Given the description of an element on the screen output the (x, y) to click on. 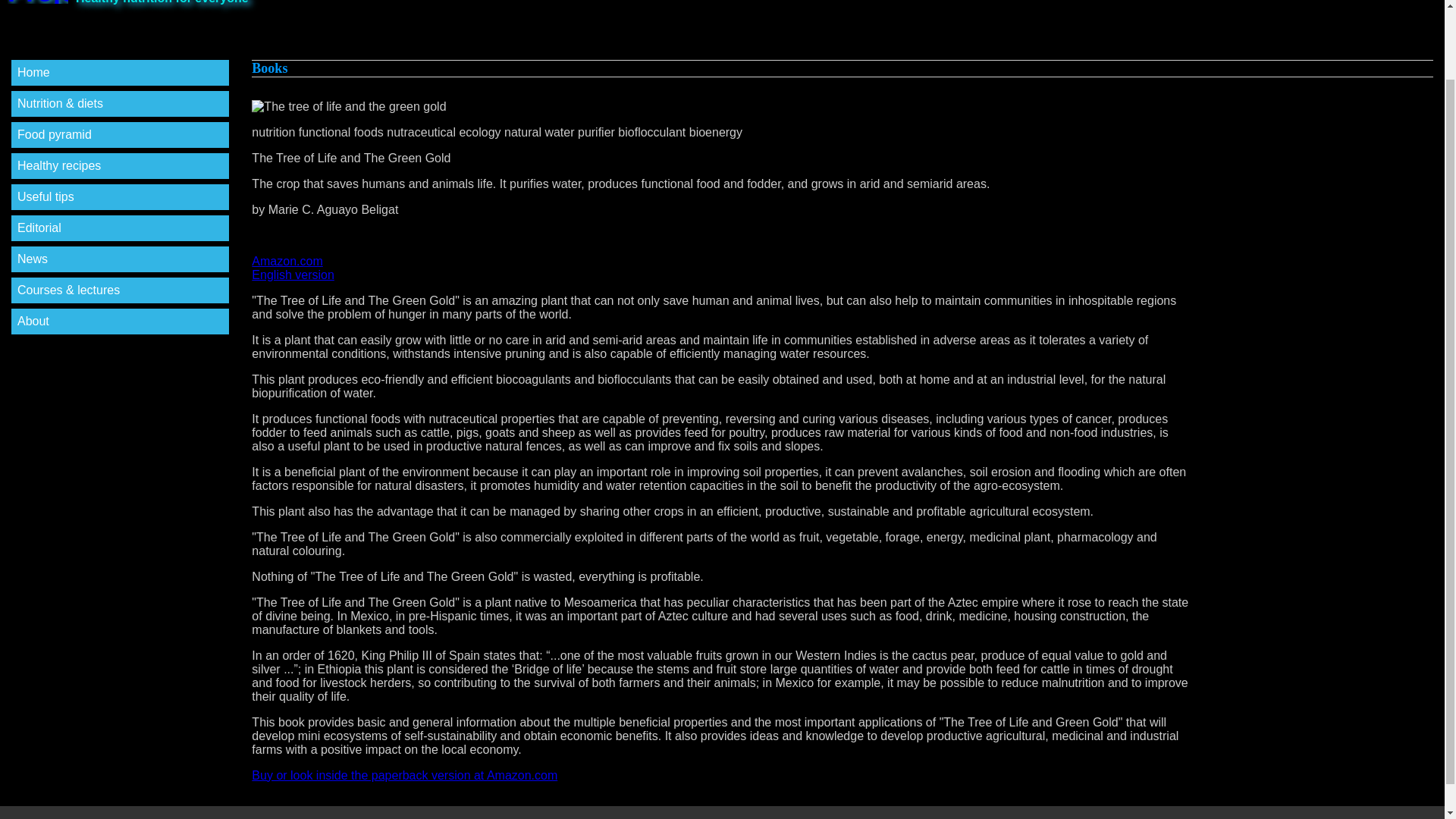
Useful tips (45, 196)
Editorial (721, 267)
Healthy recipes (39, 227)
Food pyramid (58, 164)
Buy or look inside the paperback version at Amazon.com (54, 133)
News (404, 775)
About (32, 258)
Home (33, 320)
